Given the description of an element on the screen output the (x, y) to click on. 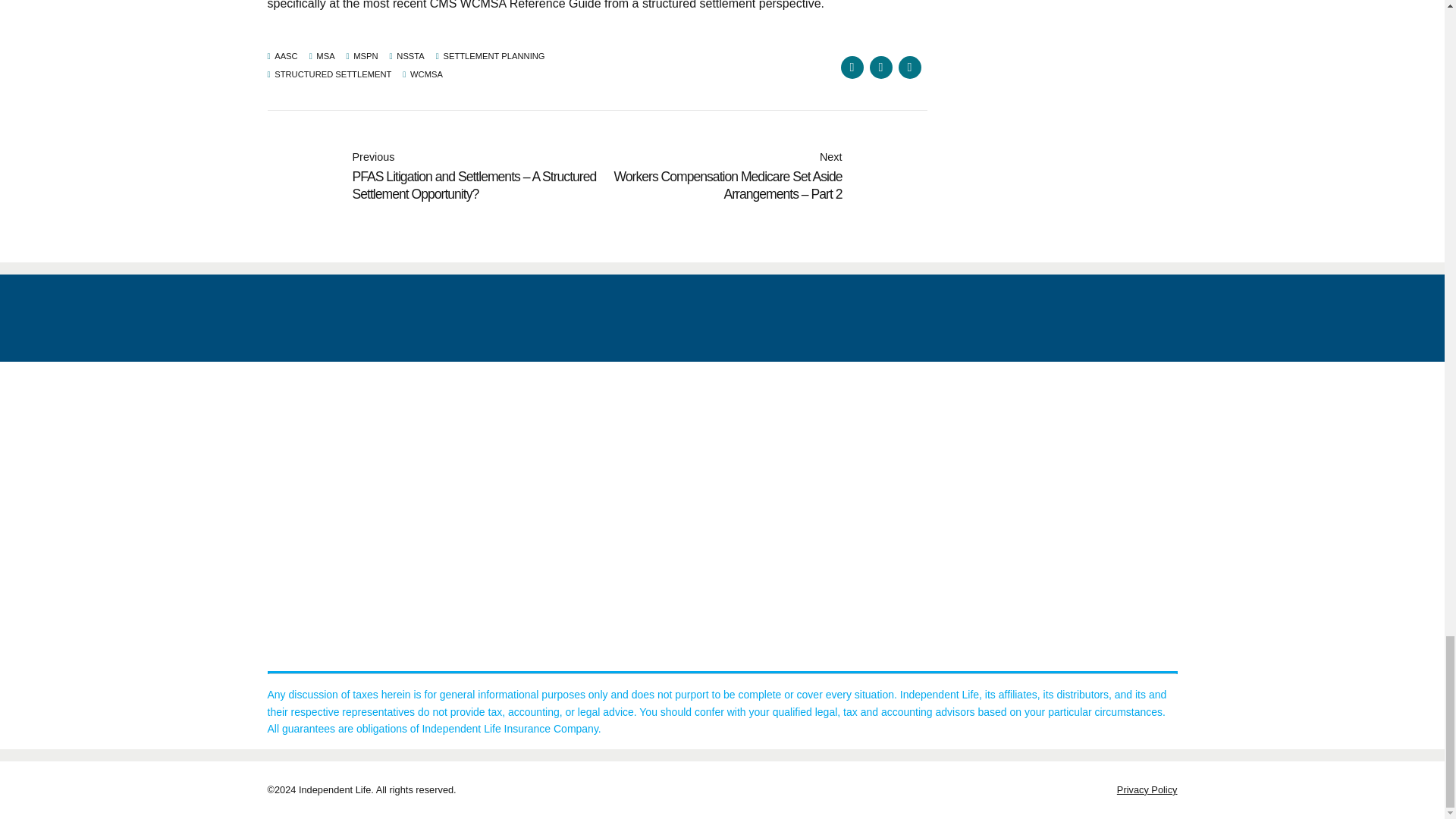
Share on Facebook (851, 67)
Share on Twitter (880, 67)
Share on Linkedin (909, 67)
